Given the description of an element on the screen output the (x, y) to click on. 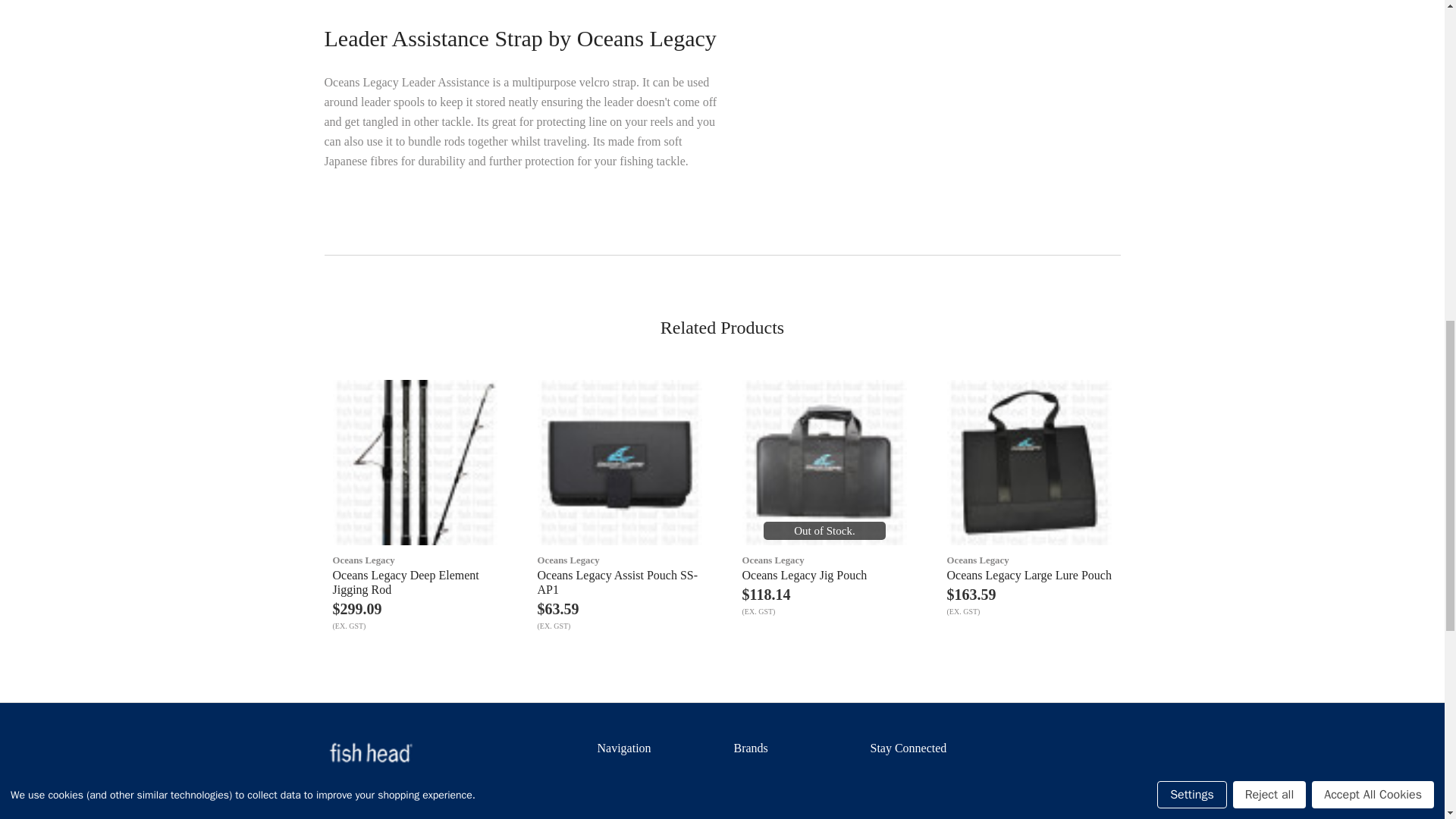
Instagram (941, 780)
Oceans Legacy Large Lure Pouch (1029, 462)
Oceans Legacy Deep Element Jigging Rod (414, 462)
Oceans Legacy Jig Pouch (824, 462)
YouTube (905, 780)
. (369, 752)
youtube (905, 778)
Oceans Legacy Assist Pouch SS-AP1 (619, 462)
instagram (941, 778)
